Given the description of an element on the screen output the (x, y) to click on. 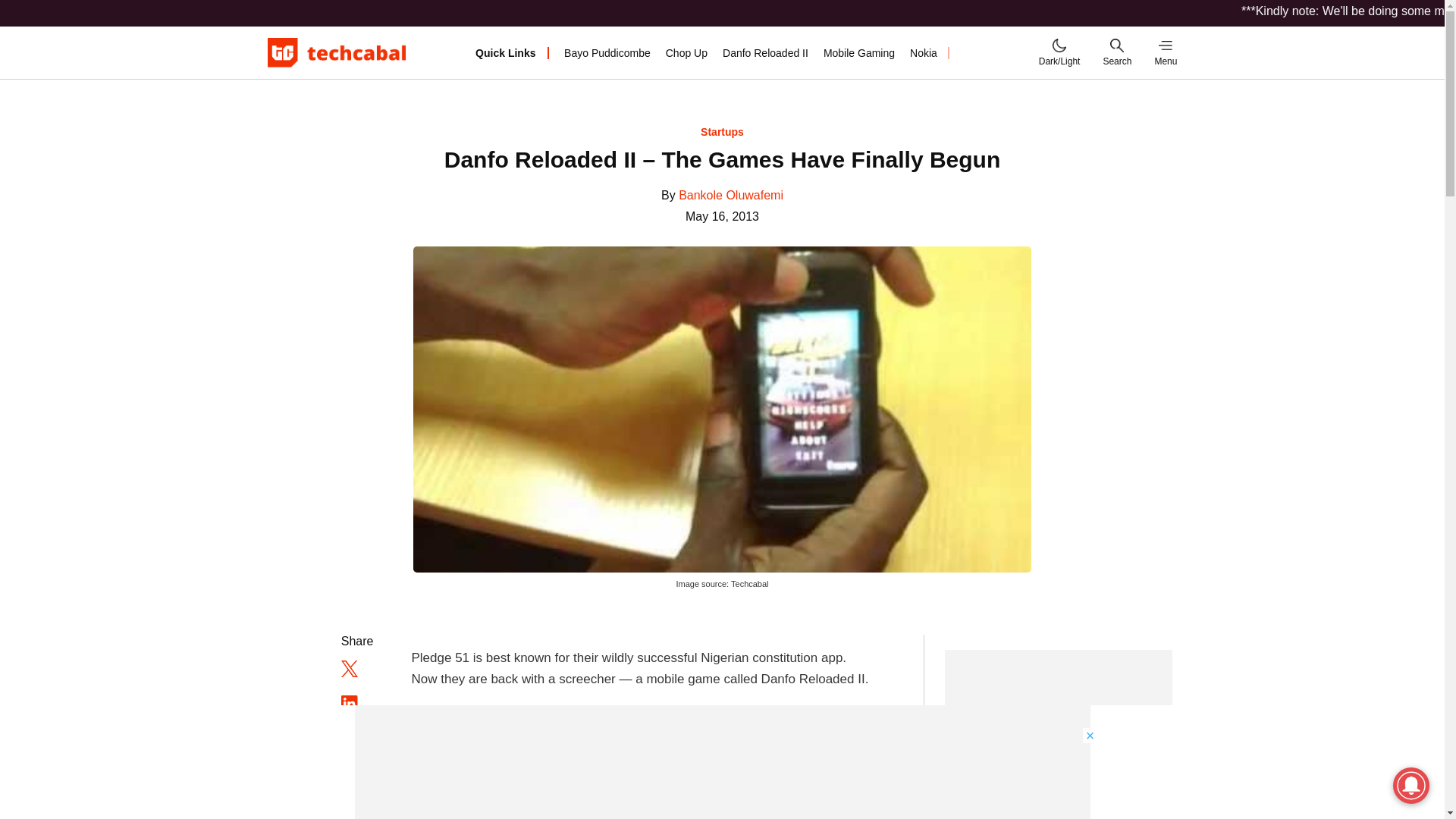
Chop Up (686, 52)
Danfo Reloaded II (765, 52)
Pledge 51 (976, 52)
Posts by Bankole Oluwafemi (730, 195)
3rd party ad content (1058, 734)
Bayo Puddicombe (607, 52)
Nokia (923, 52)
Mobile Gaming (859, 52)
Search (1116, 52)
3rd party ad content (722, 762)
